Given the description of an element on the screen output the (x, y) to click on. 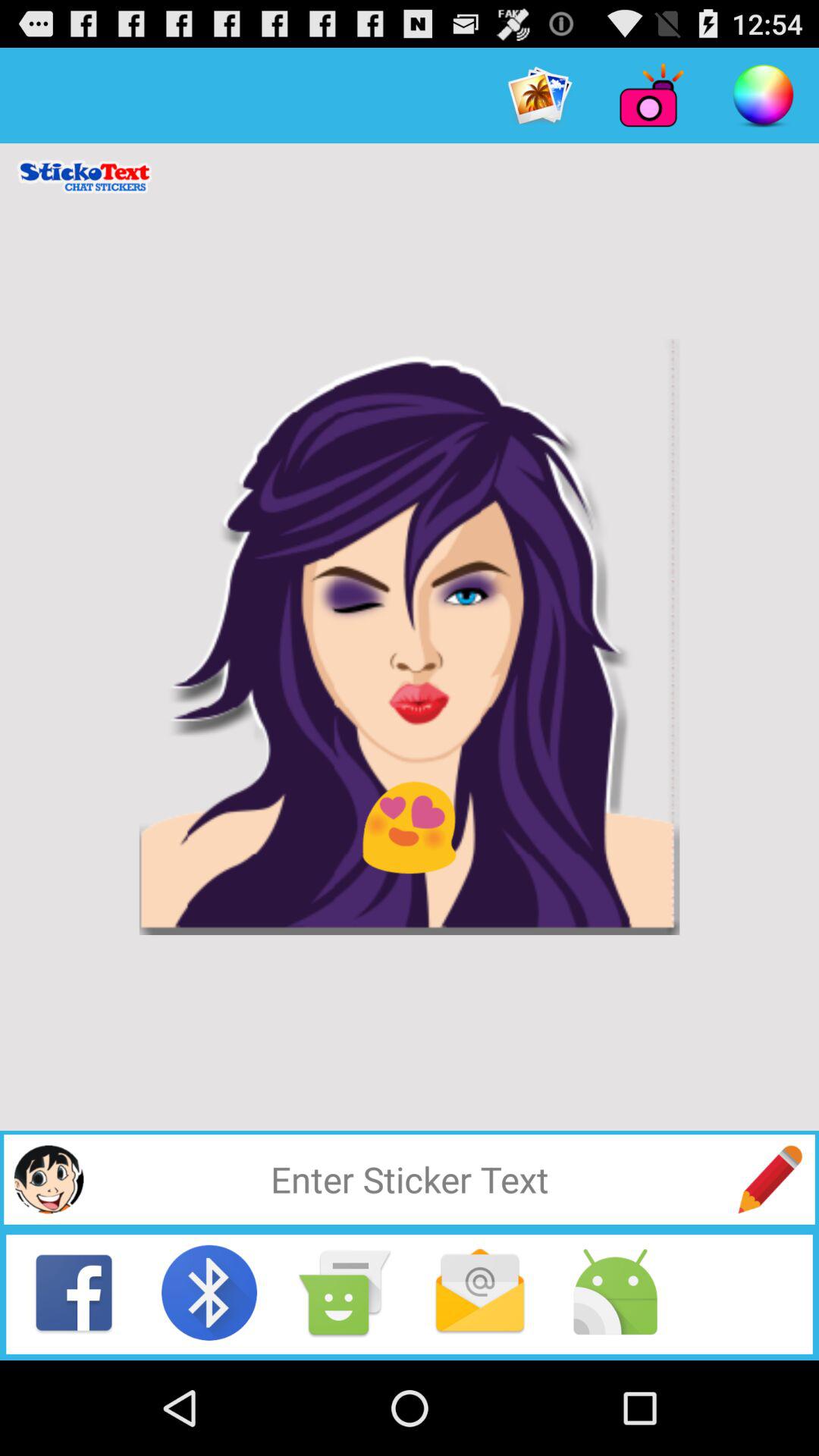
enable bluetooth (209, 1292)
